Given the description of an element on the screen output the (x, y) to click on. 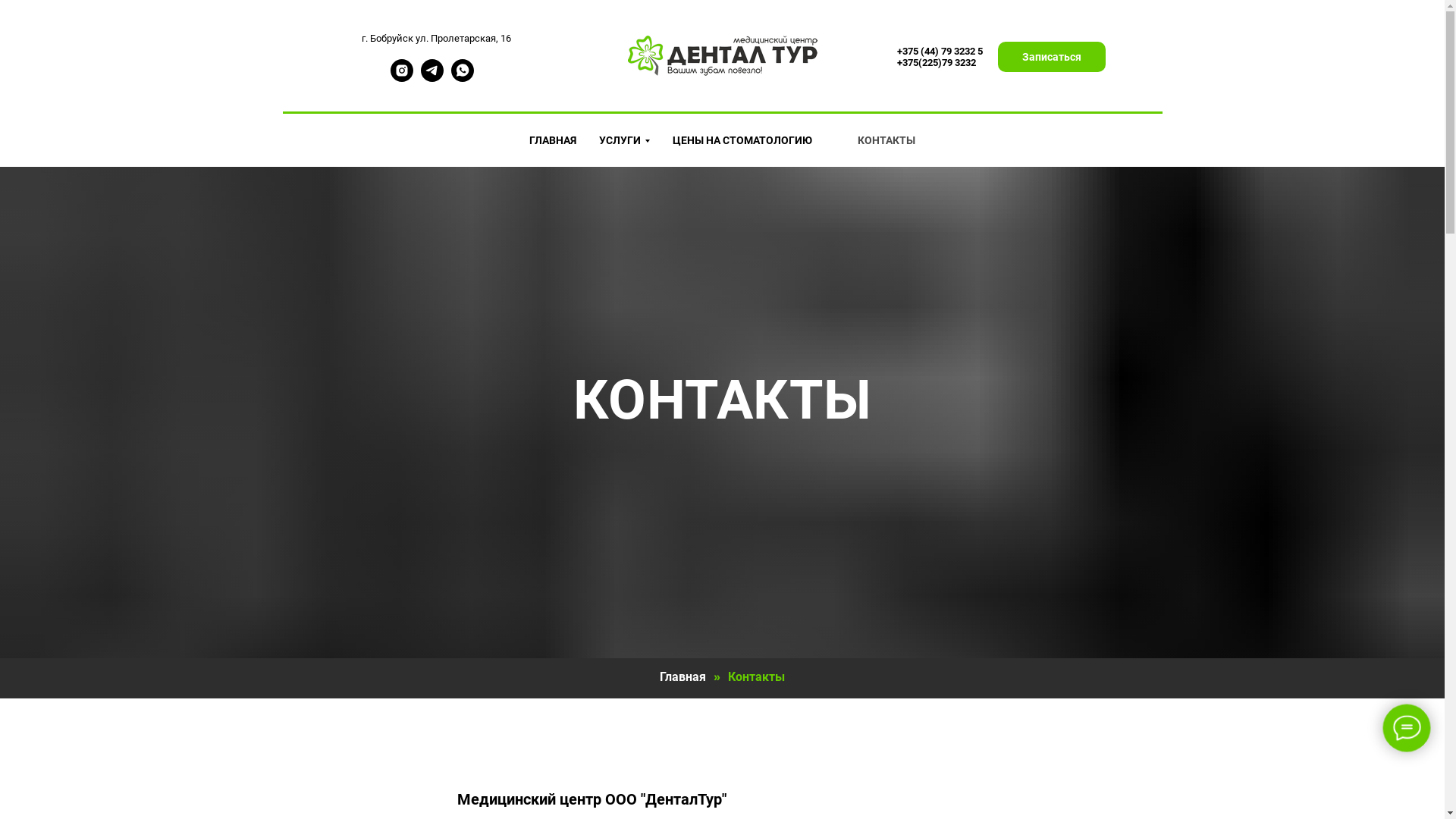
+375 (44) 79 3232 5 Element type: text (939, 50)
+375(225)79 3232 Element type: text (935, 62)
